Given the description of an element on the screen output the (x, y) to click on. 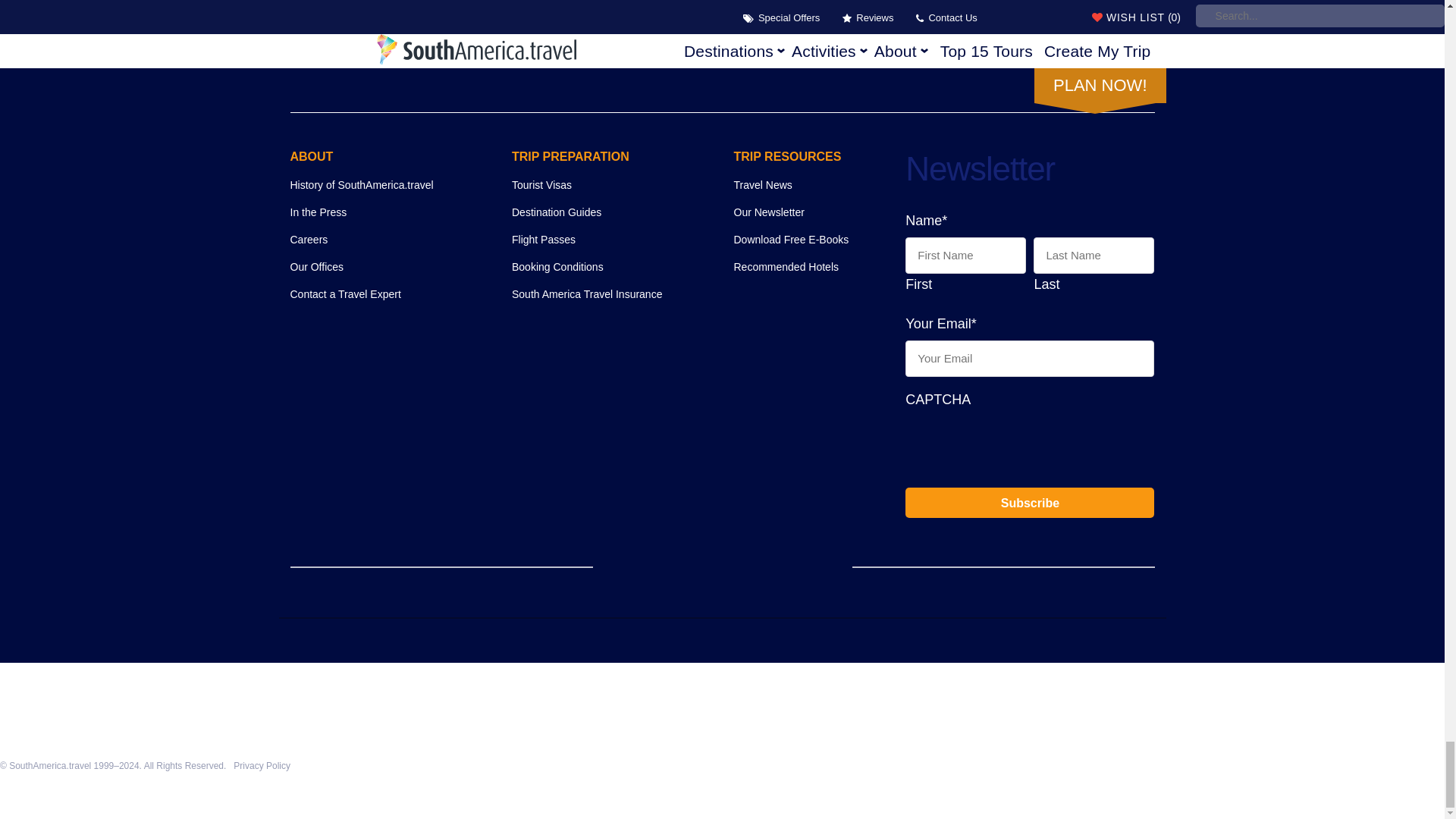
Subscribe (1029, 502)
